Given the description of an element on the screen output the (x, y) to click on. 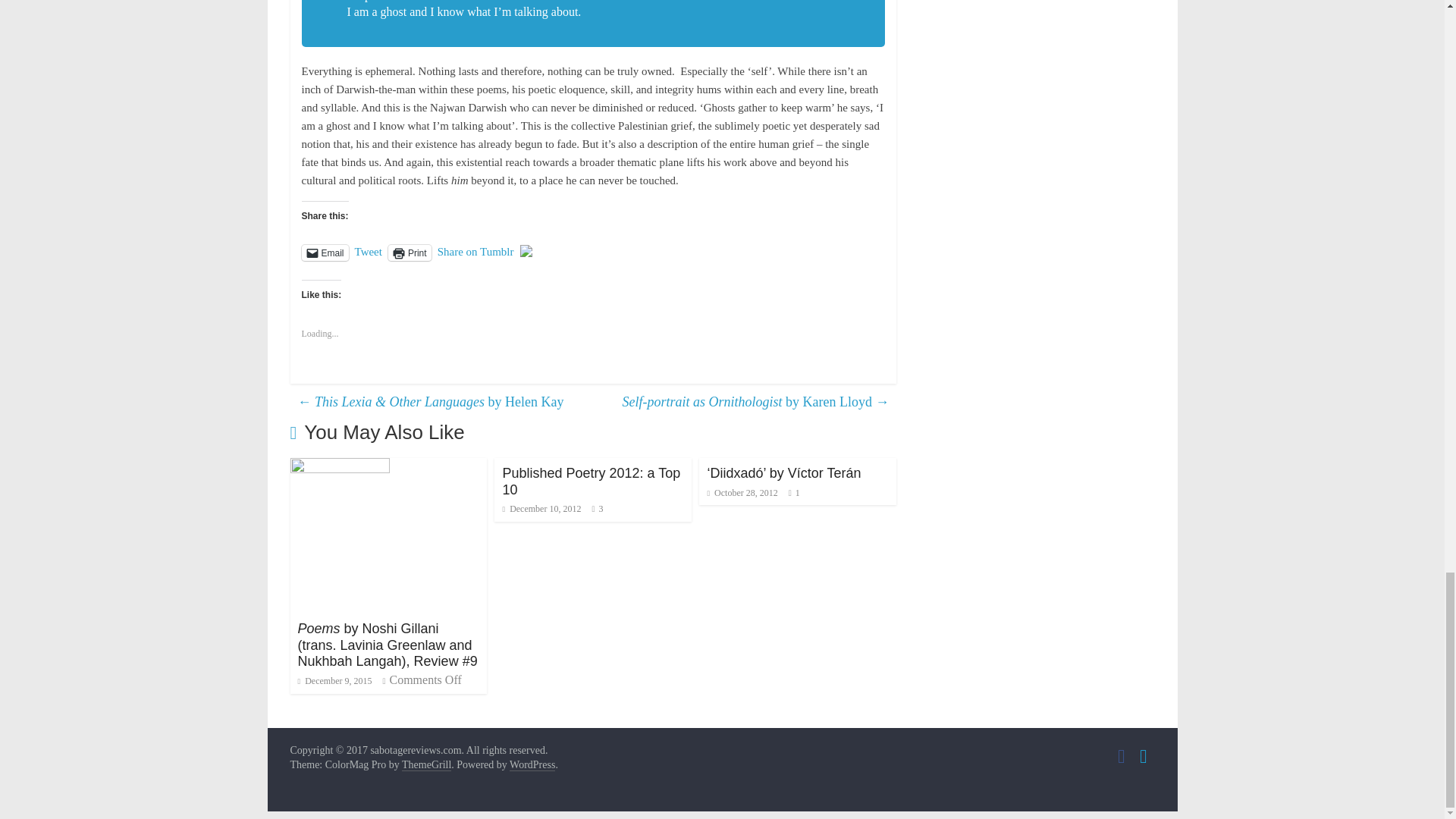
Share on Tumblr (475, 251)
Print (409, 252)
Share on Tumblr (475, 251)
Email (325, 252)
Tweet (368, 251)
Click to print (409, 252)
Click to email a link to a friend (325, 252)
